Given the description of an element on the screen output the (x, y) to click on. 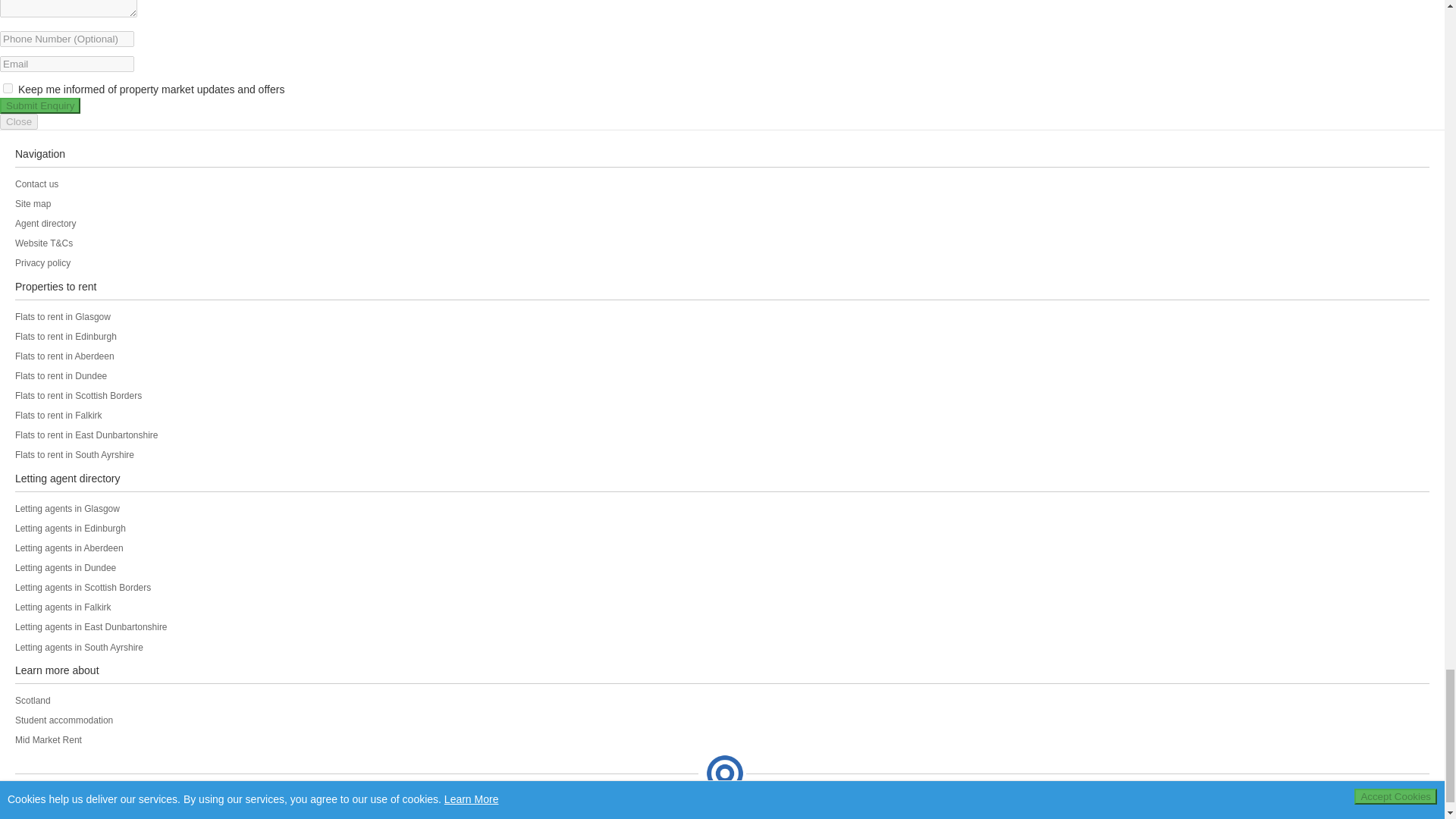
true (7, 88)
